Given the description of an element on the screen output the (x, y) to click on. 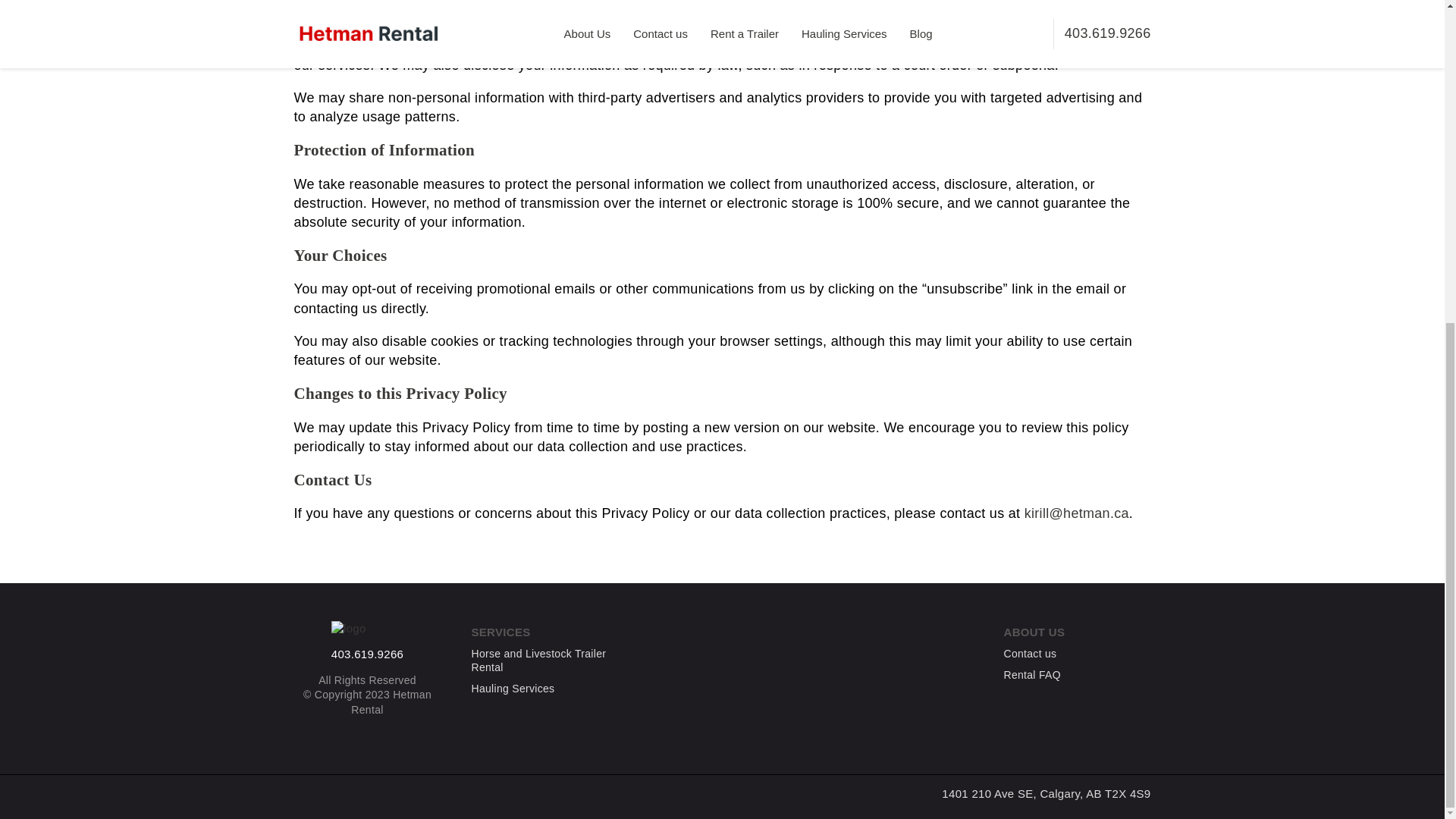
Rental FAQ (1032, 674)
Contact us (1030, 653)
1401 210 Ave SE, Calgary, AB T2X 4S9 (1046, 793)
Hauling Services (512, 688)
Horse and Livestock Trailer Rental (544, 660)
